Given the description of an element on the screen output the (x, y) to click on. 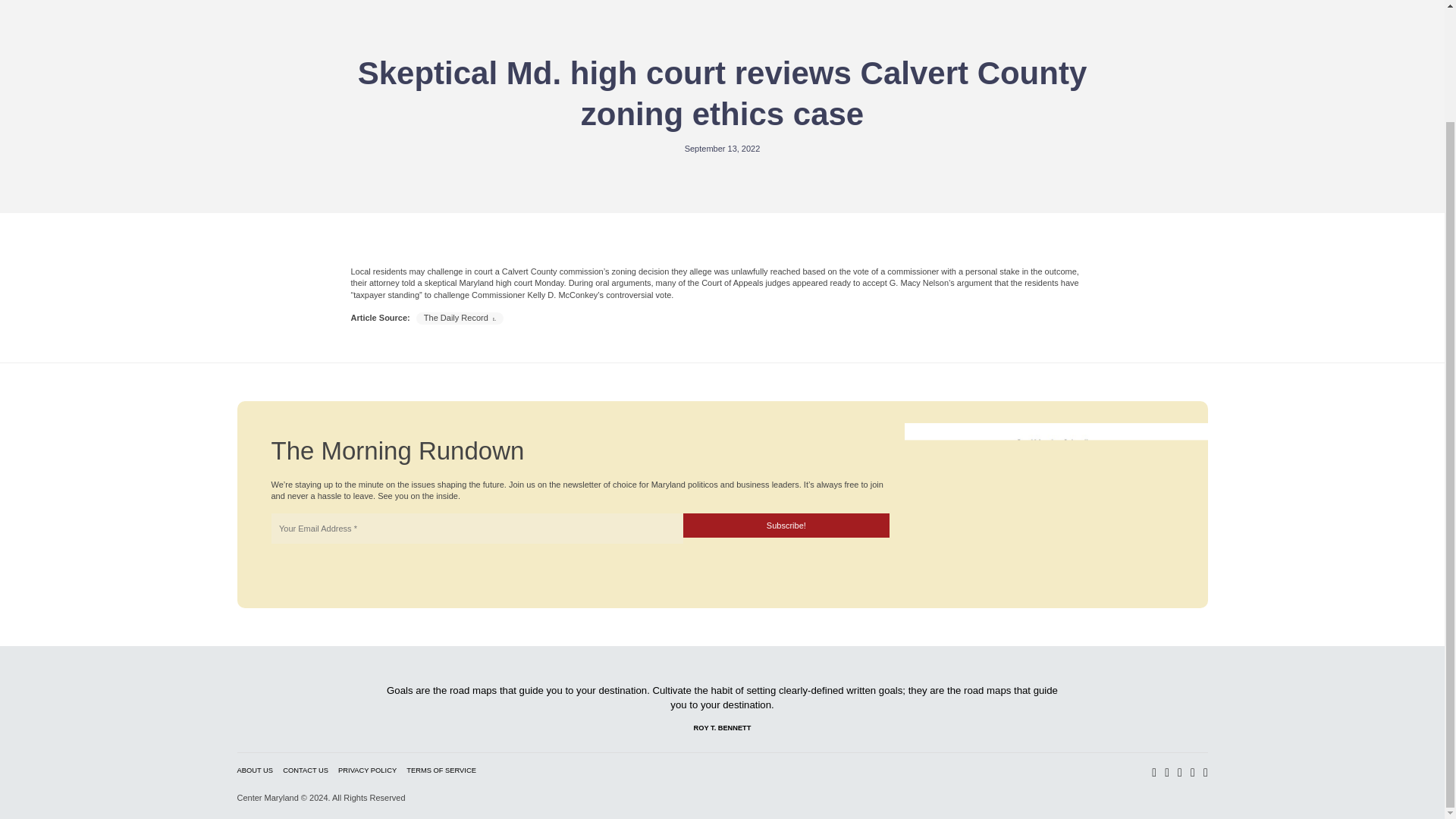
TERMS OF SERVICE (441, 769)
Subscribe! (785, 525)
The Daily Record (459, 317)
CONTACT US (305, 769)
Subscribe! (785, 525)
Your Email Address (476, 528)
PRIVACY POLICY (366, 769)
ABOUT US (254, 769)
